Given the description of an element on the screen output the (x, y) to click on. 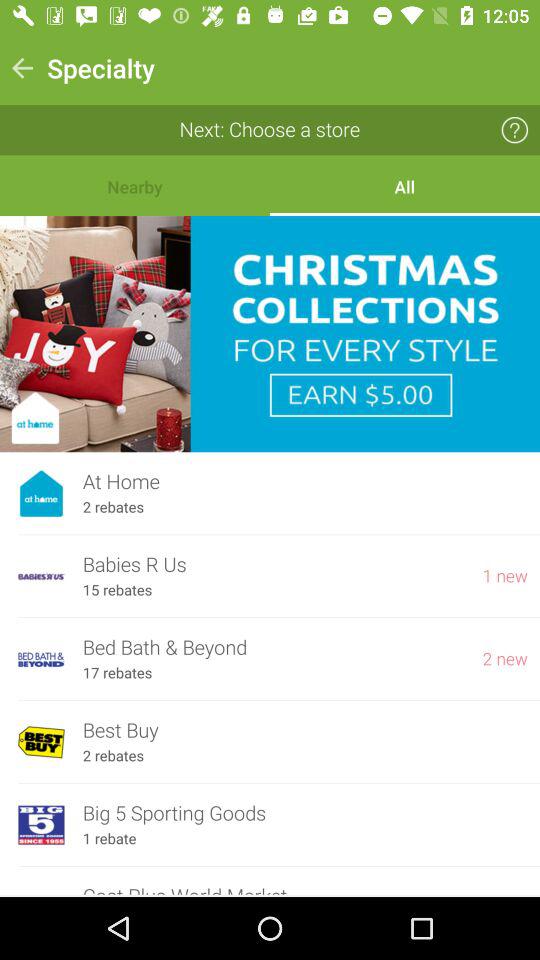
flip to the 15 rebates item (117, 590)
